Given the description of an element on the screen output the (x, y) to click on. 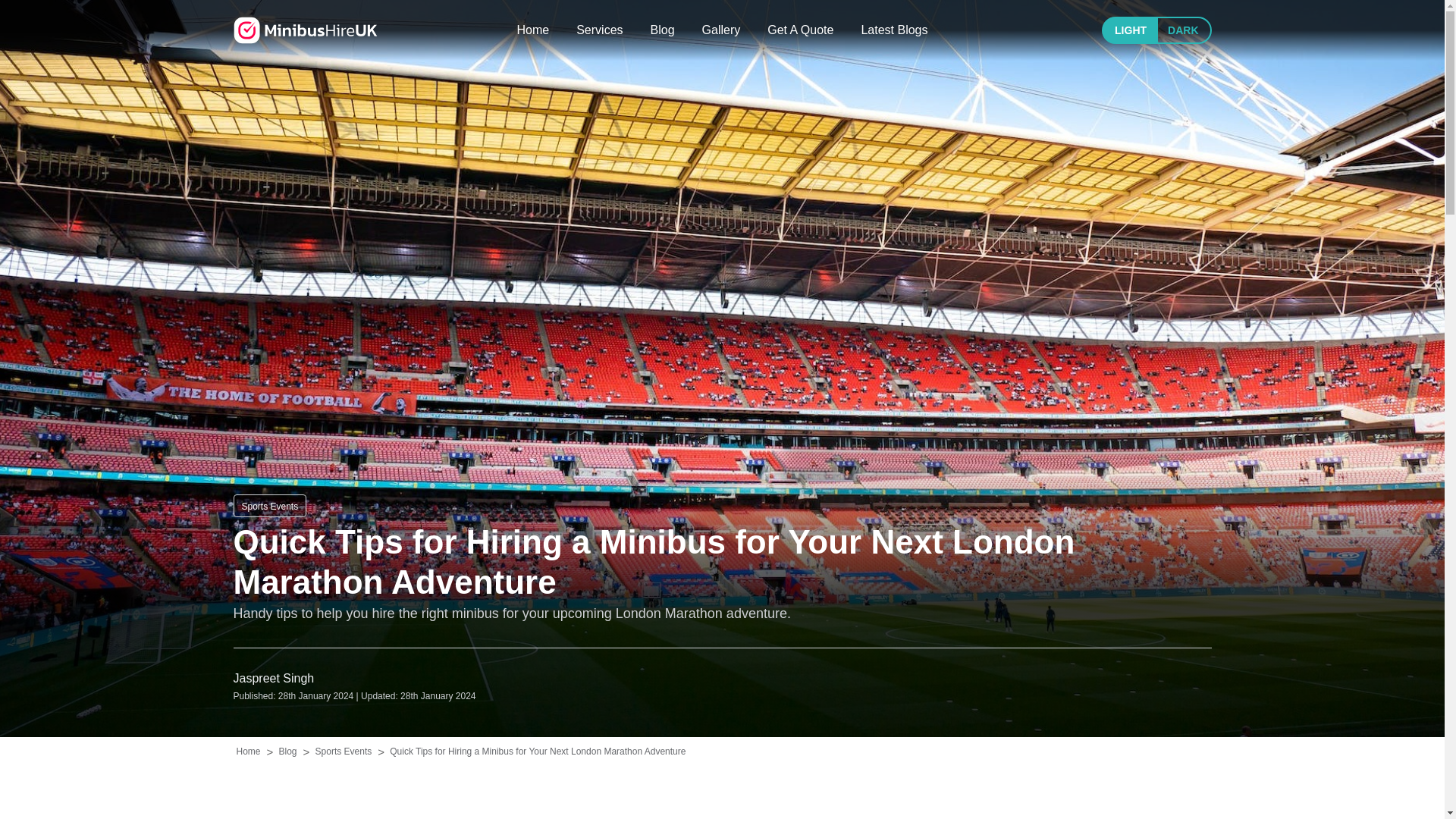
Get A Quote (799, 30)
Latest Blogs (893, 30)
Latest Blogs (893, 30)
Minibus Hire (304, 29)
Get A Quote (799, 30)
